Given the description of an element on the screen output the (x, y) to click on. 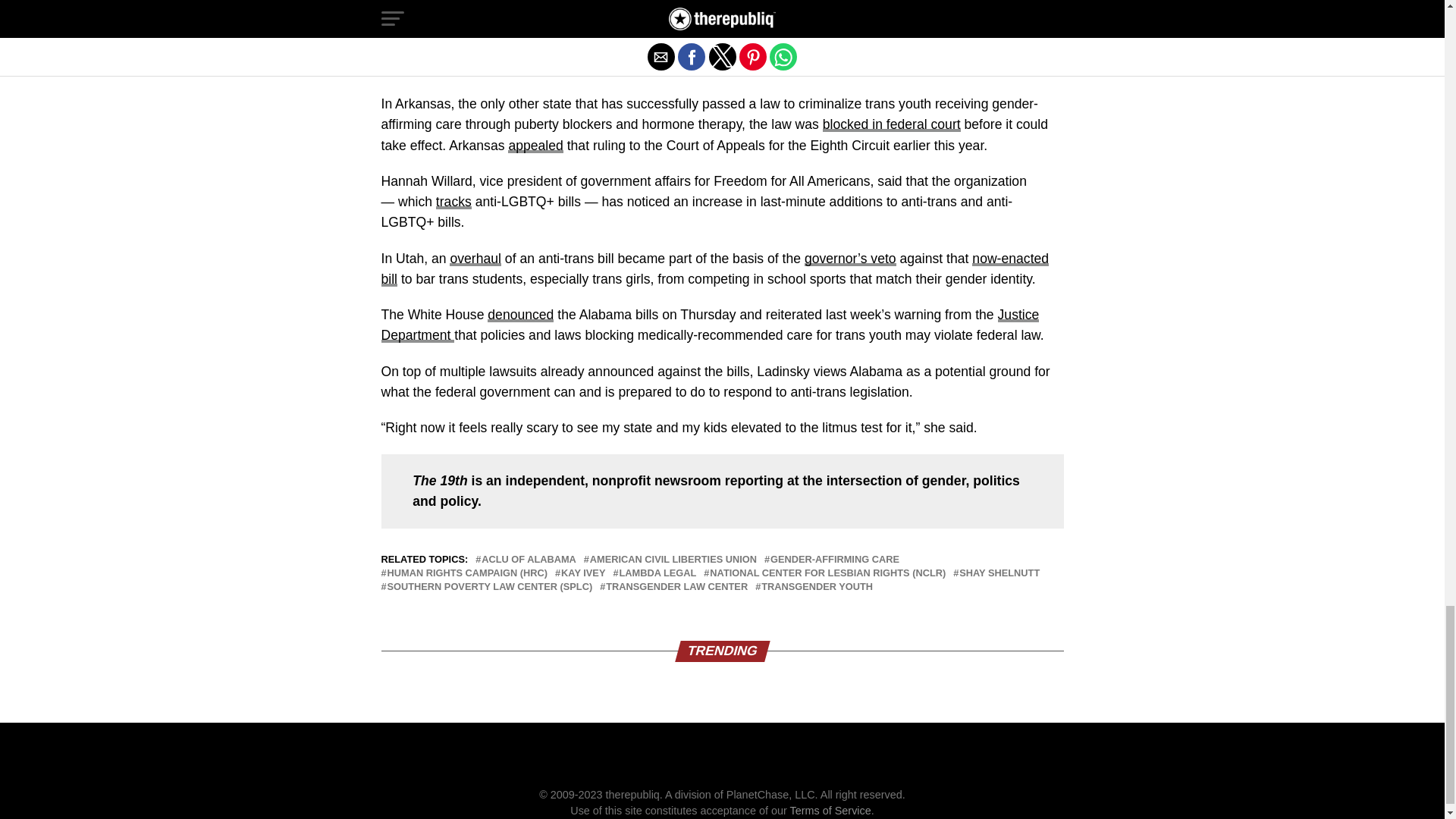
GENDER-AFFIRMING CARE (834, 560)
blocked in federal court (891, 124)
TRANSGENDER LAW CENTER (676, 587)
denounced (520, 314)
overhaul (474, 258)
Justice Department  (709, 325)
KAY IVEY (582, 573)
Terms of Service (830, 810)
AMERICAN CIVIL LIBERTIES UNION (673, 560)
TRANSGENDER YOUTH (816, 587)
SHAY SHELNUTT (999, 573)
tracks (453, 201)
LAMBDA LEGAL (656, 573)
now-enacted bill (714, 268)
ACLU OF ALABAMA (528, 560)
